Given the description of an element on the screen output the (x, y) to click on. 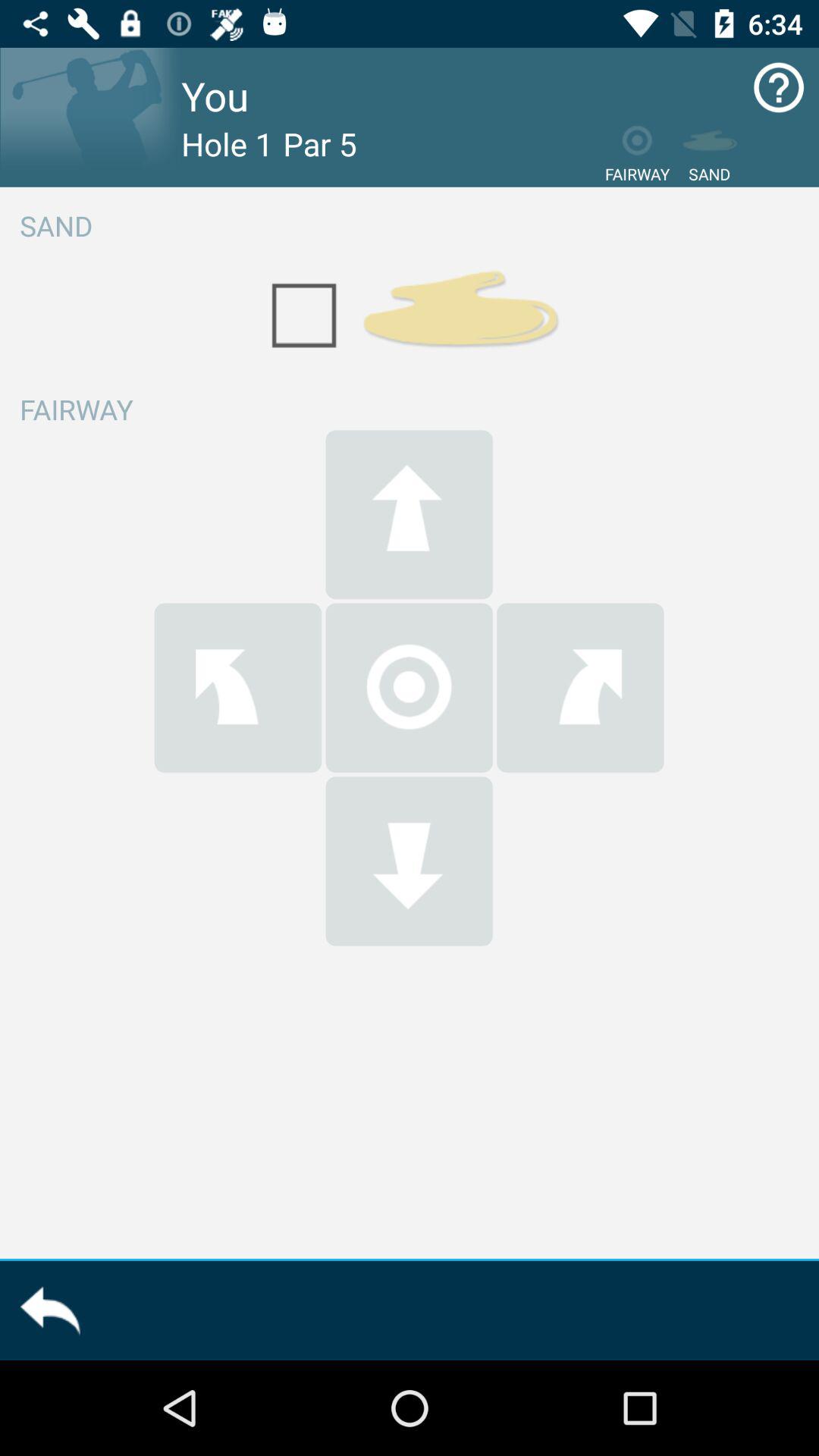
move on down (408, 861)
